Given the description of an element on the screen output the (x, y) to click on. 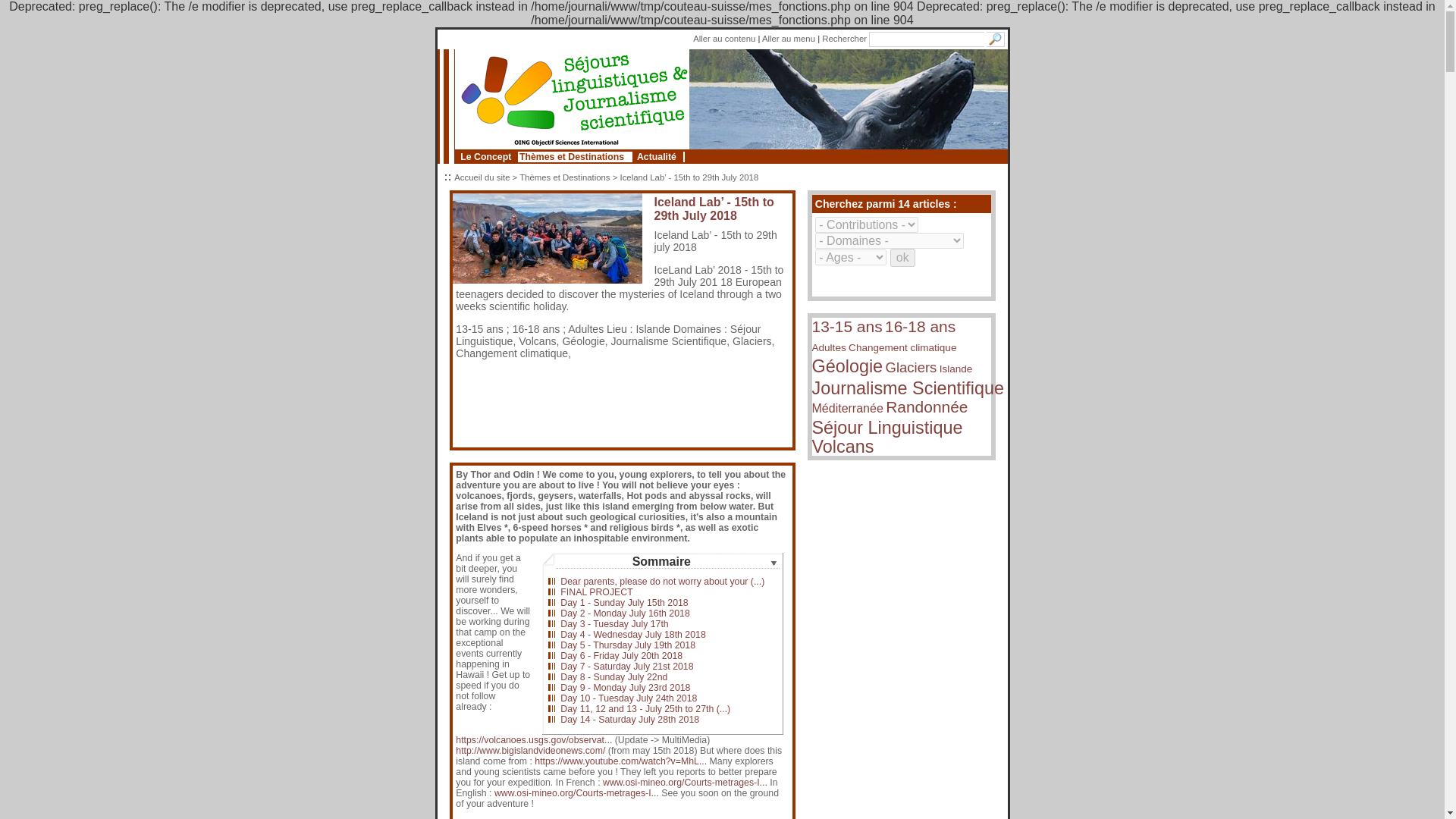
Day 11, 12 and 13 - July 25th to 27th 2018 (645, 708)
Day 6 - Friday July 20th 2018 (621, 655)
Day 10 - Tuesday July 24th 2018 (628, 697)
Day 5 - Thursday July 19th 2018 (627, 644)
Accueil du site (481, 176)
Day 14 - Saturday July 28th 2018 (629, 719)
Day 7 - Saturday July 21st 2018 (626, 665)
ok (902, 257)
Day 3 - Tuesday July 17th (614, 624)
Day 9 - Monday July 23rd 2018 (625, 687)
Day 2 - Monday July 16th 2018 (624, 613)
Aller au menu (788, 38)
FINAL PROJECT (595, 592)
Day 9 - Monday July 23rd 2018 (625, 687)
